Given the description of an element on the screen output the (x, y) to click on. 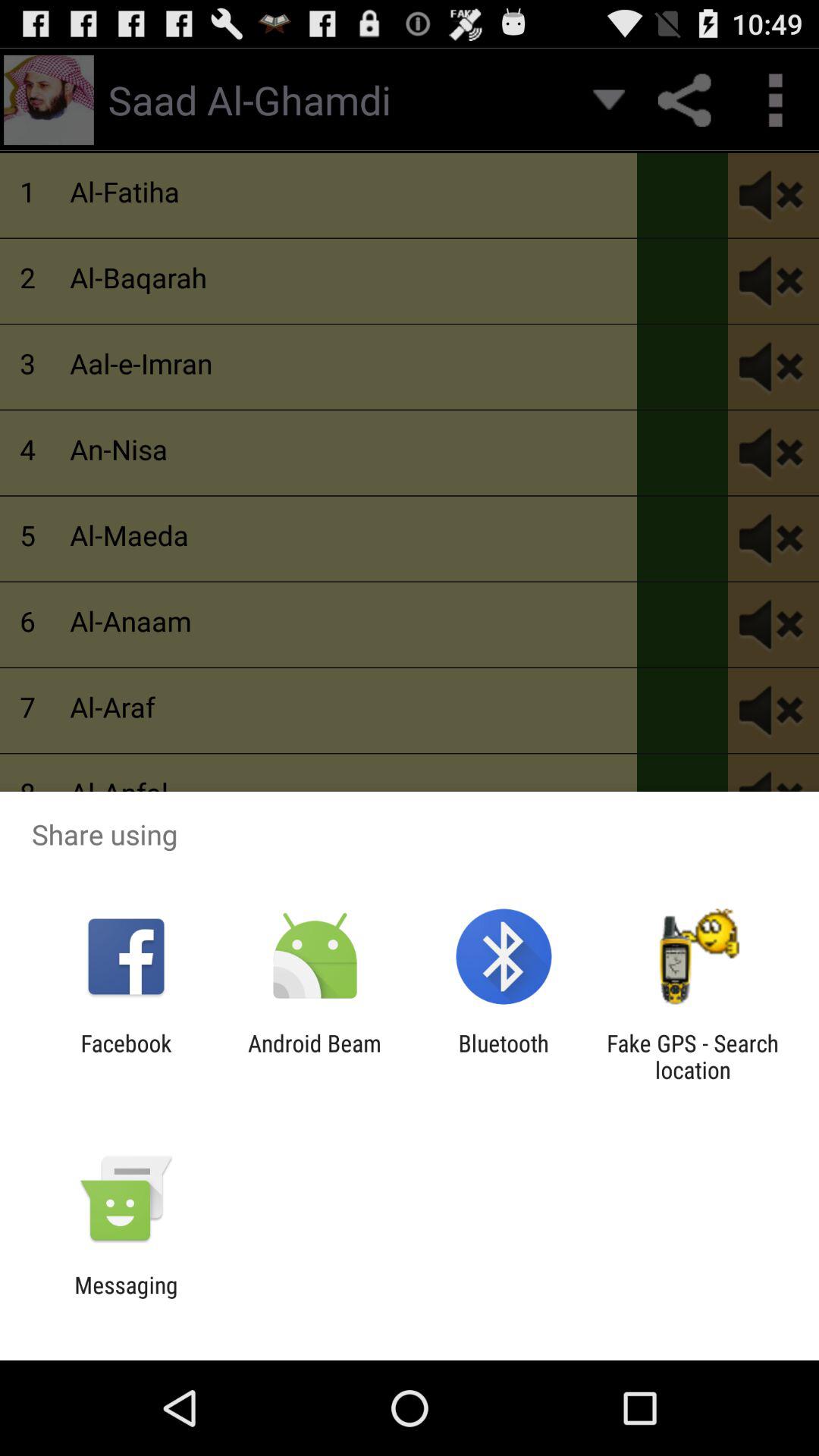
choose the item at the bottom right corner (692, 1056)
